Given the description of an element on the screen output the (x, y) to click on. 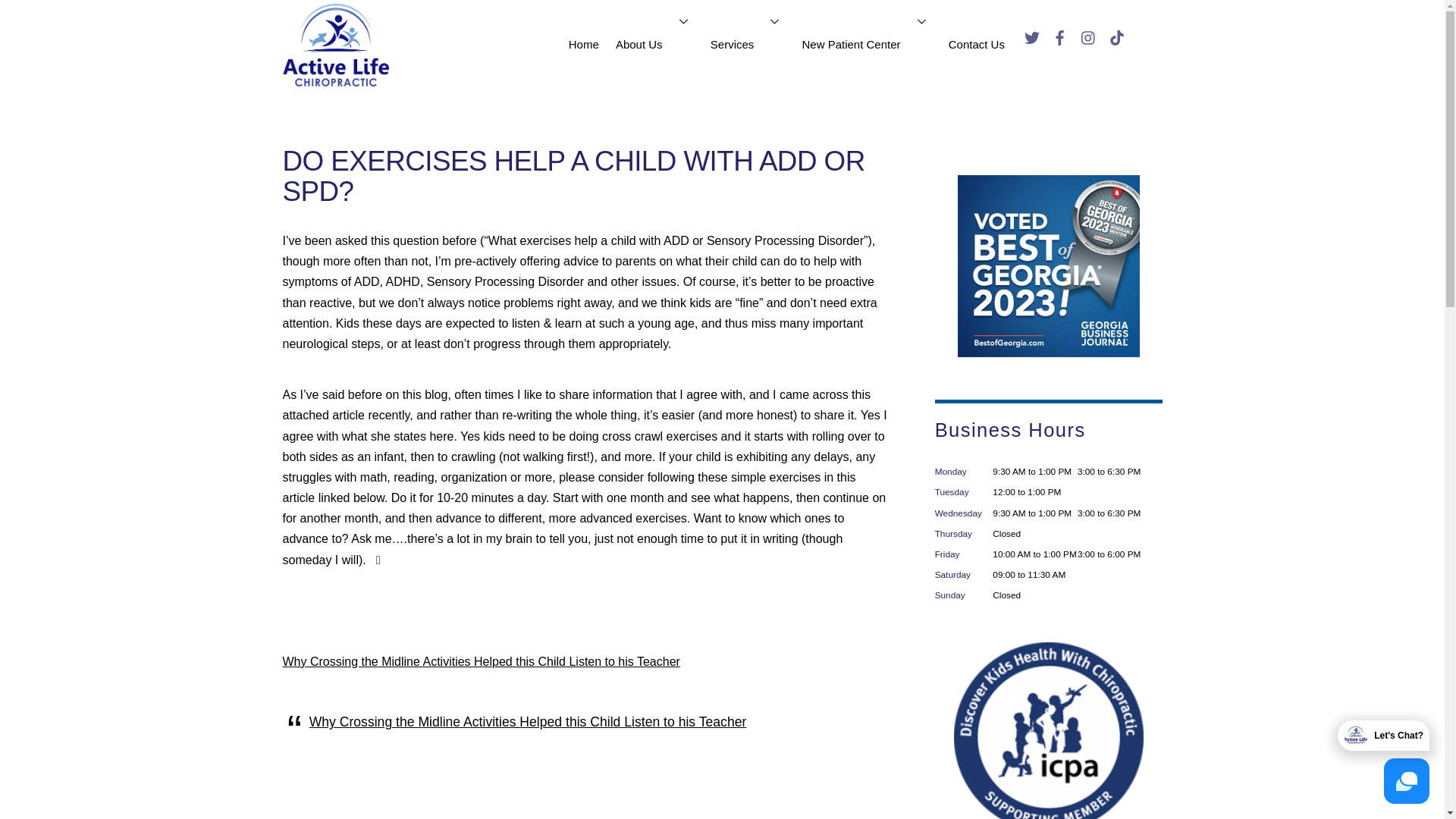
New Patient Center (865, 44)
About Us (654, 44)
Services (747, 44)
DO EXERCISES HELP A CHILD WITH ADD OR SPD? (573, 176)
Kennesaw Chiropractic - Active Life Chiropractor (335, 76)
active-life-logo (335, 45)
